Given the description of an element on the screen output the (x, y) to click on. 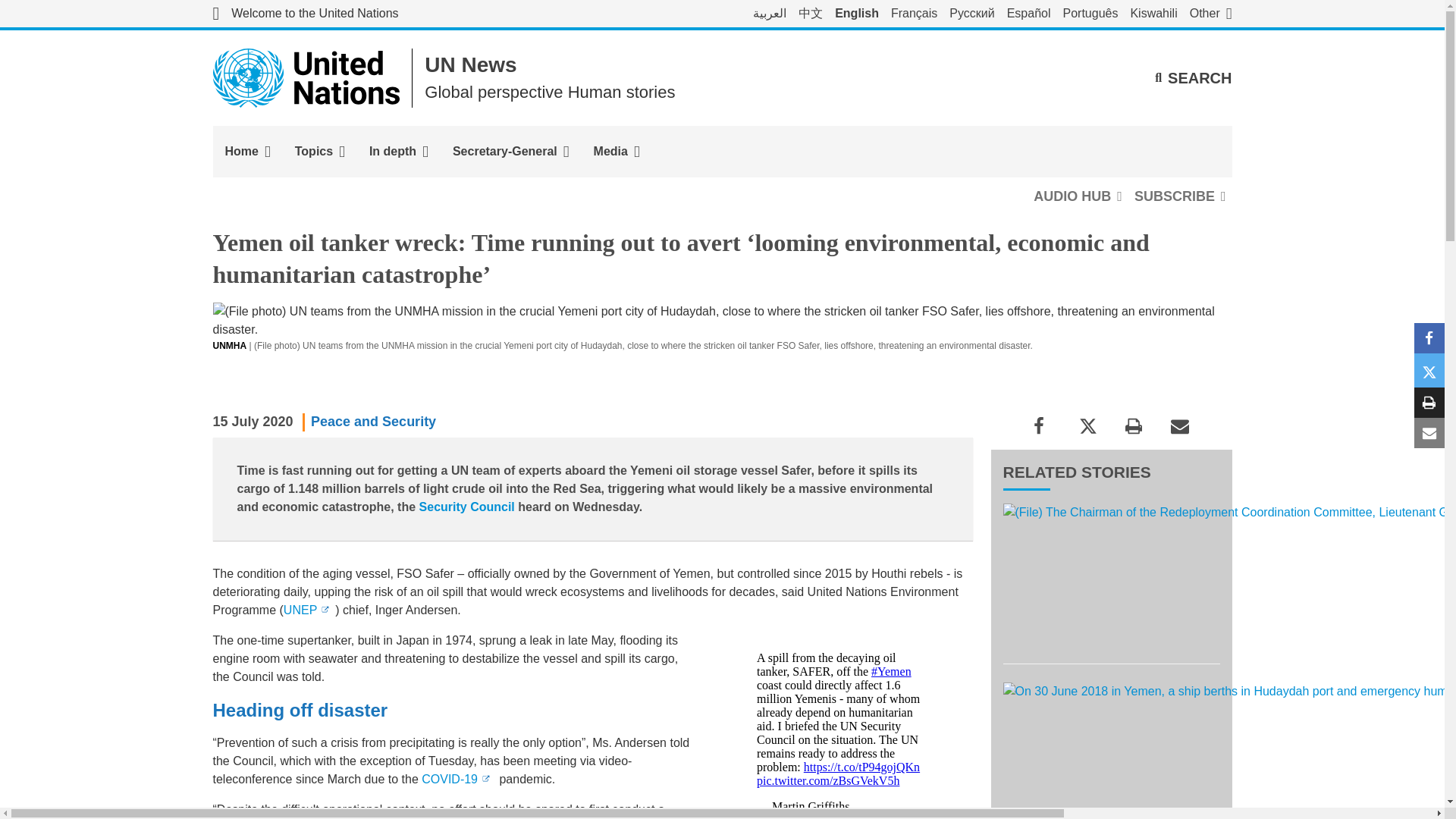
Home (247, 151)
English (856, 13)
Topics (319, 151)
SEARCH (1192, 77)
United Nations (305, 76)
Kiswahili (1152, 13)
UN News (470, 64)
Welcome to the United Nations (304, 13)
United Nations (304, 13)
UN News (470, 64)
Other (1210, 13)
Home (247, 151)
